Given the description of an element on the screen output the (x, y) to click on. 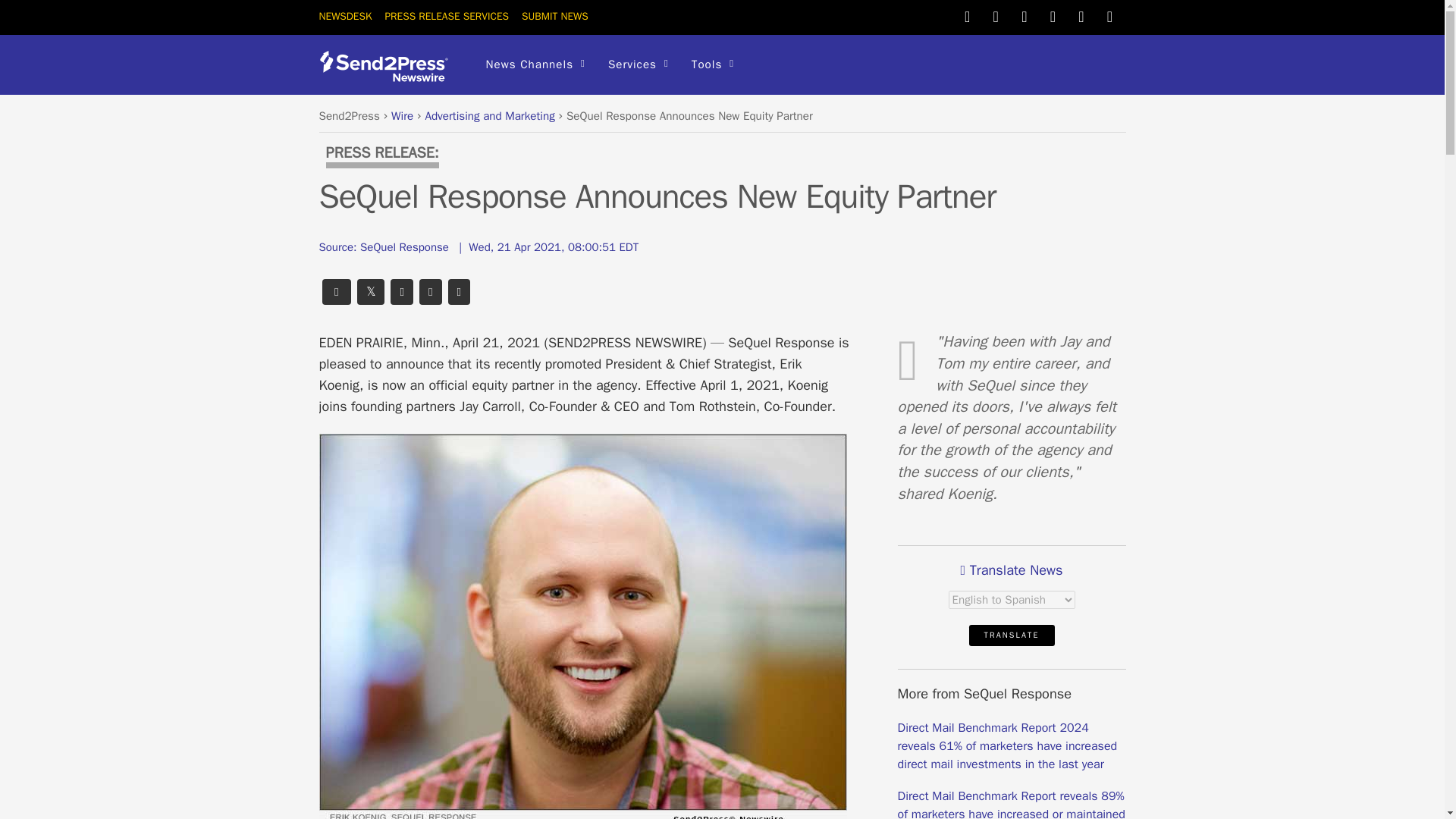
PRESS RELEASE SERVICES (446, 15)
PR News Channels (535, 65)
SUBMIT NEWS (554, 15)
Send2Press Newswire (388, 66)
Press Release Services (446, 15)
News Channels (535, 65)
Newswire Main Page (344, 15)
Send2Press Newswire - Press Release Services (388, 75)
Twitter (967, 15)
Instagram (1081, 15)
